Given the description of an element on the screen output the (x, y) to click on. 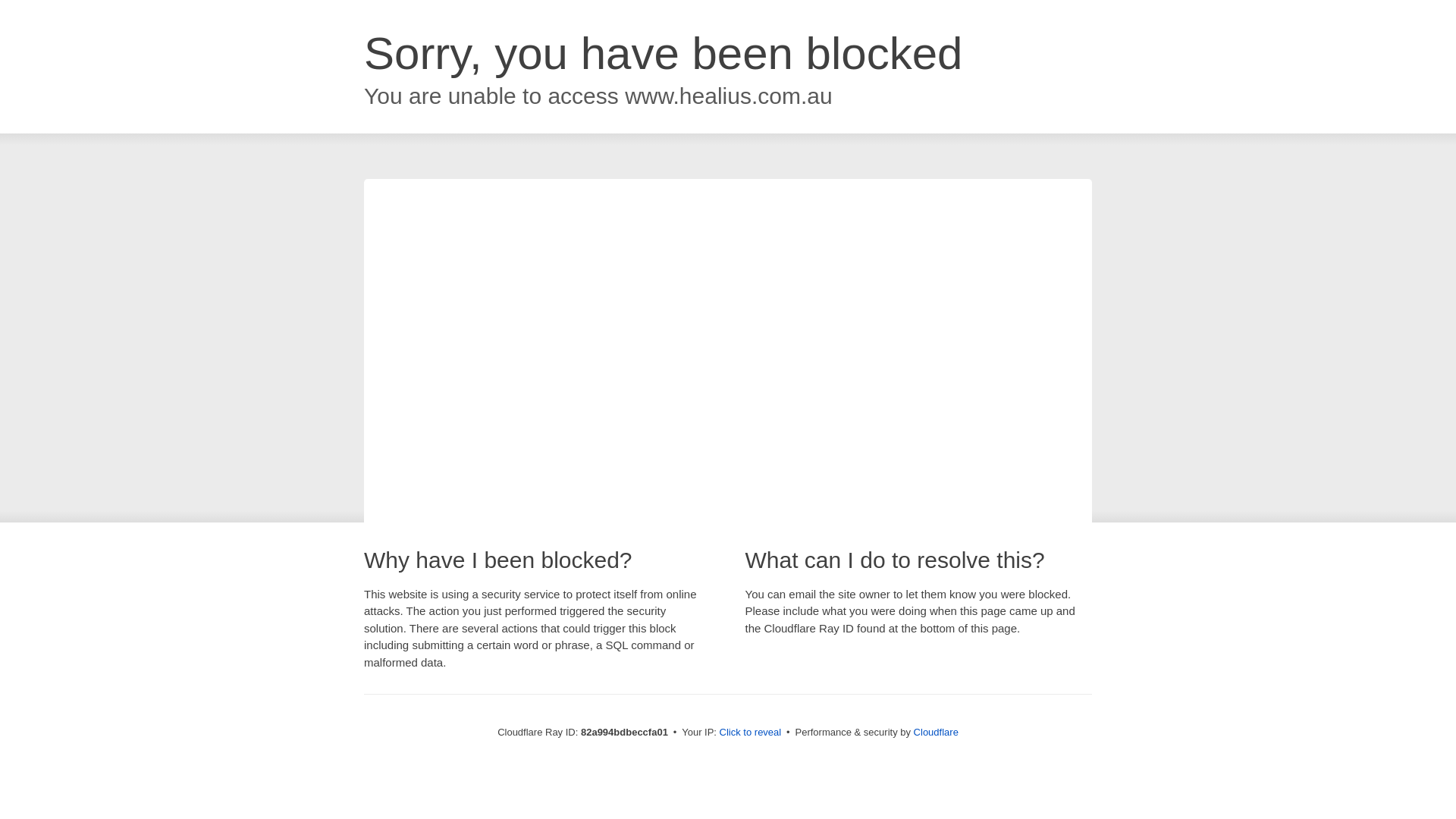
Cloudflare Element type: text (935, 731)
Click to reveal Element type: text (750, 732)
